Given the description of an element on the screen output the (x, y) to click on. 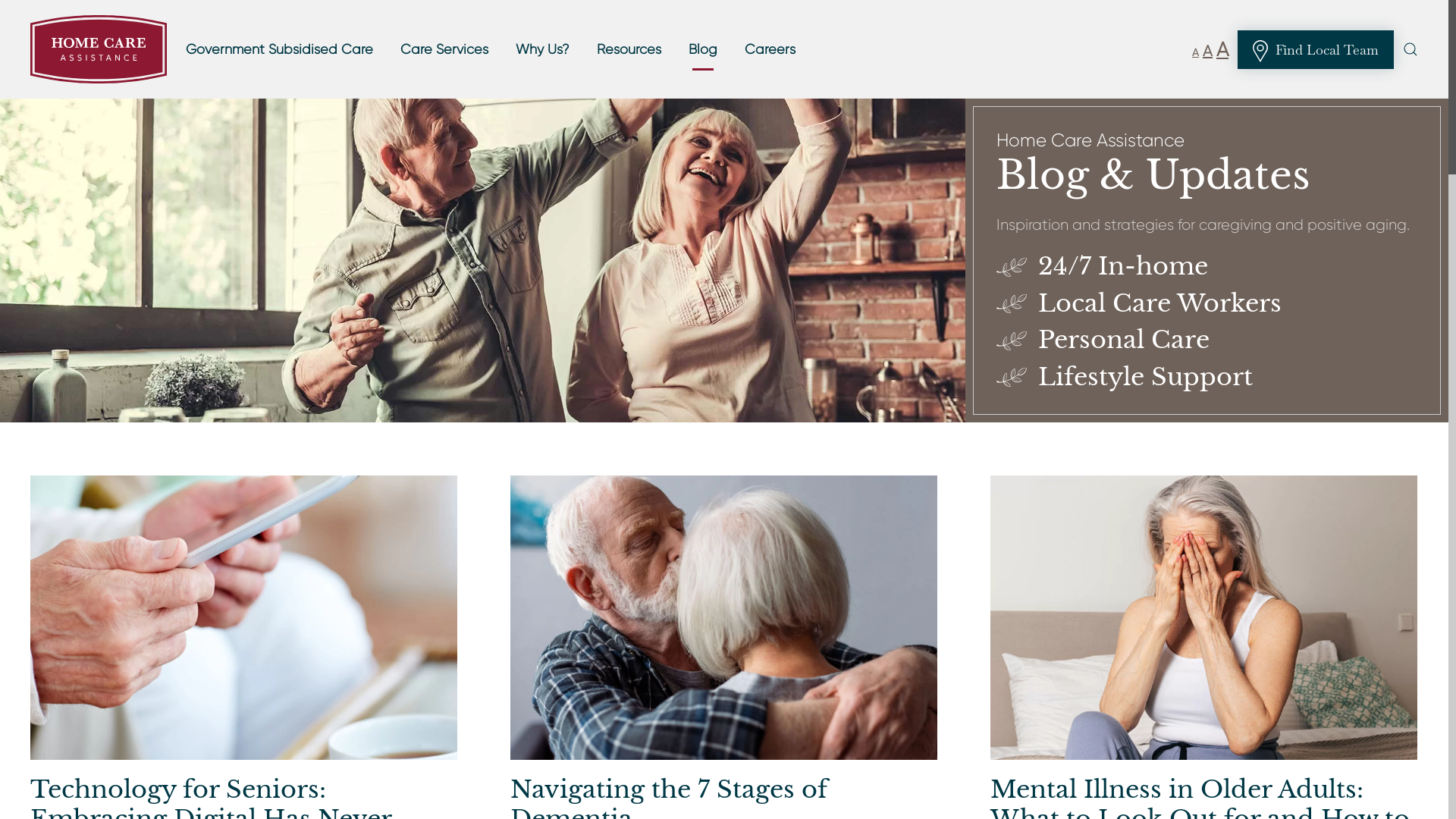
Care Services Element type: text (444, 48)
Why Us? Element type: text (542, 48)
A
Increase font size. Element type: text (1222, 48)
A
Reset font size. Element type: text (1207, 50)
Resources Element type: text (628, 48)
A
Decrease font size. Element type: text (1195, 51)
Blog Element type: text (702, 48)
Government Subsidised Care Element type: text (278, 48)
  Find Local Team Element type: text (1315, 49)
Careers Element type: text (769, 48)
